Given the description of an element on the screen output the (x, y) to click on. 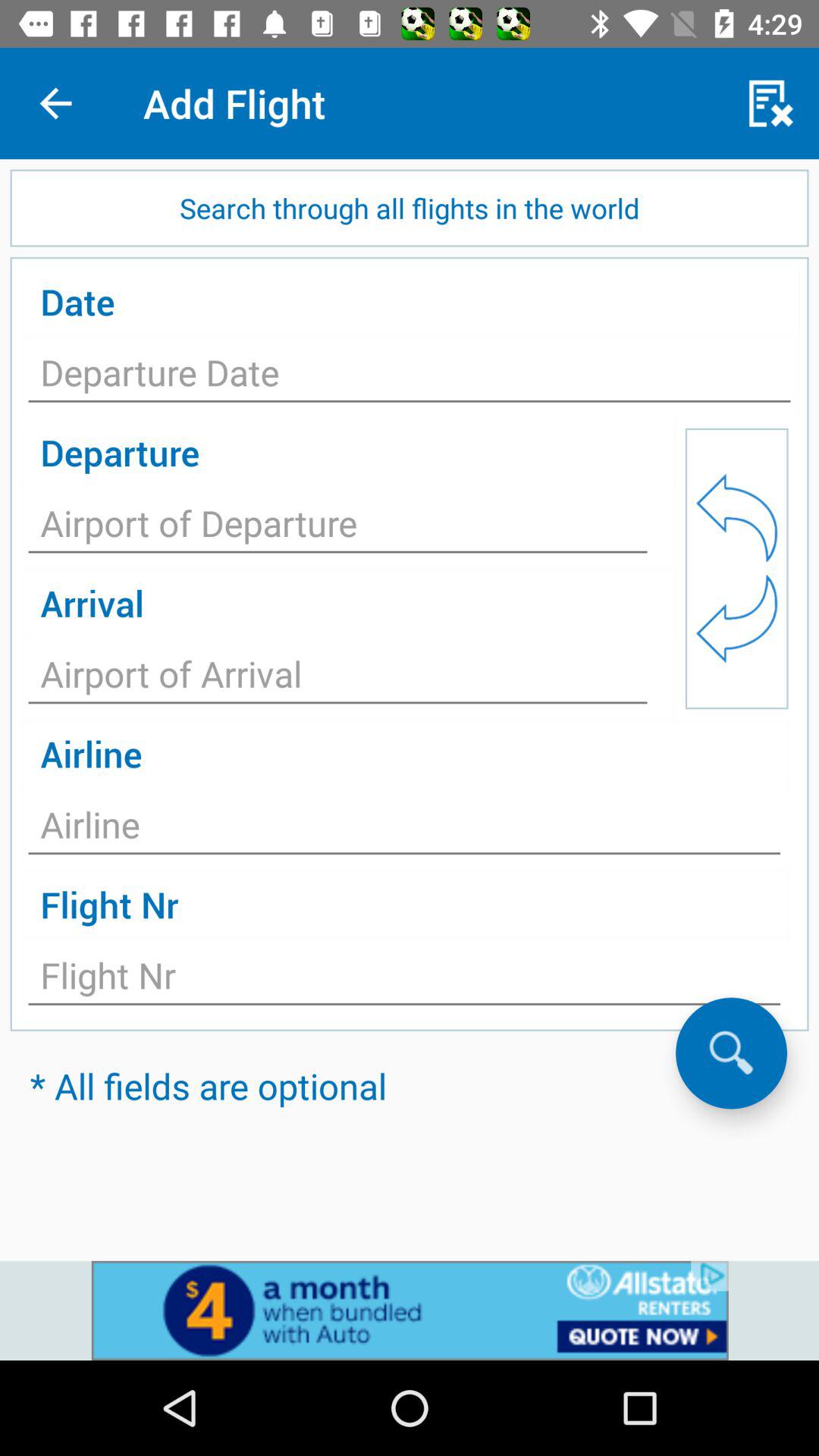
insert airport of arrival (337, 678)
